Given the description of an element on the screen output the (x, y) to click on. 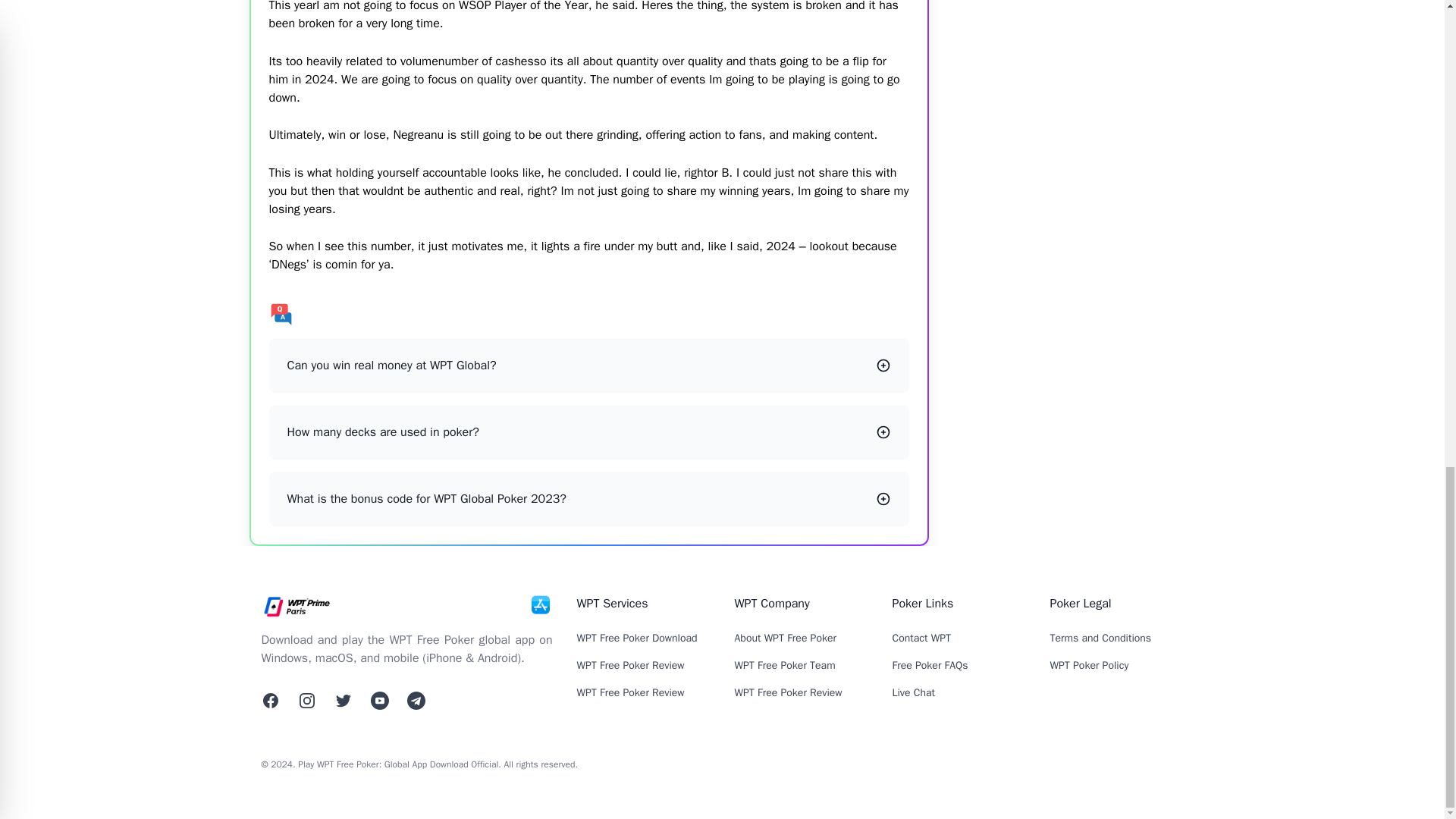
About WPT Free Poker (784, 637)
Instagram (306, 700)
Twitter (378, 700)
Twitter (342, 700)
WPT Free Poker Download (636, 637)
WPT Free Poker Team (783, 665)
WPT Free Poker Review (630, 665)
Twitter (415, 700)
WPT Free Poker Review (630, 692)
Facebook (269, 700)
FAQs list (587, 313)
